Given the description of an element on the screen output the (x, y) to click on. 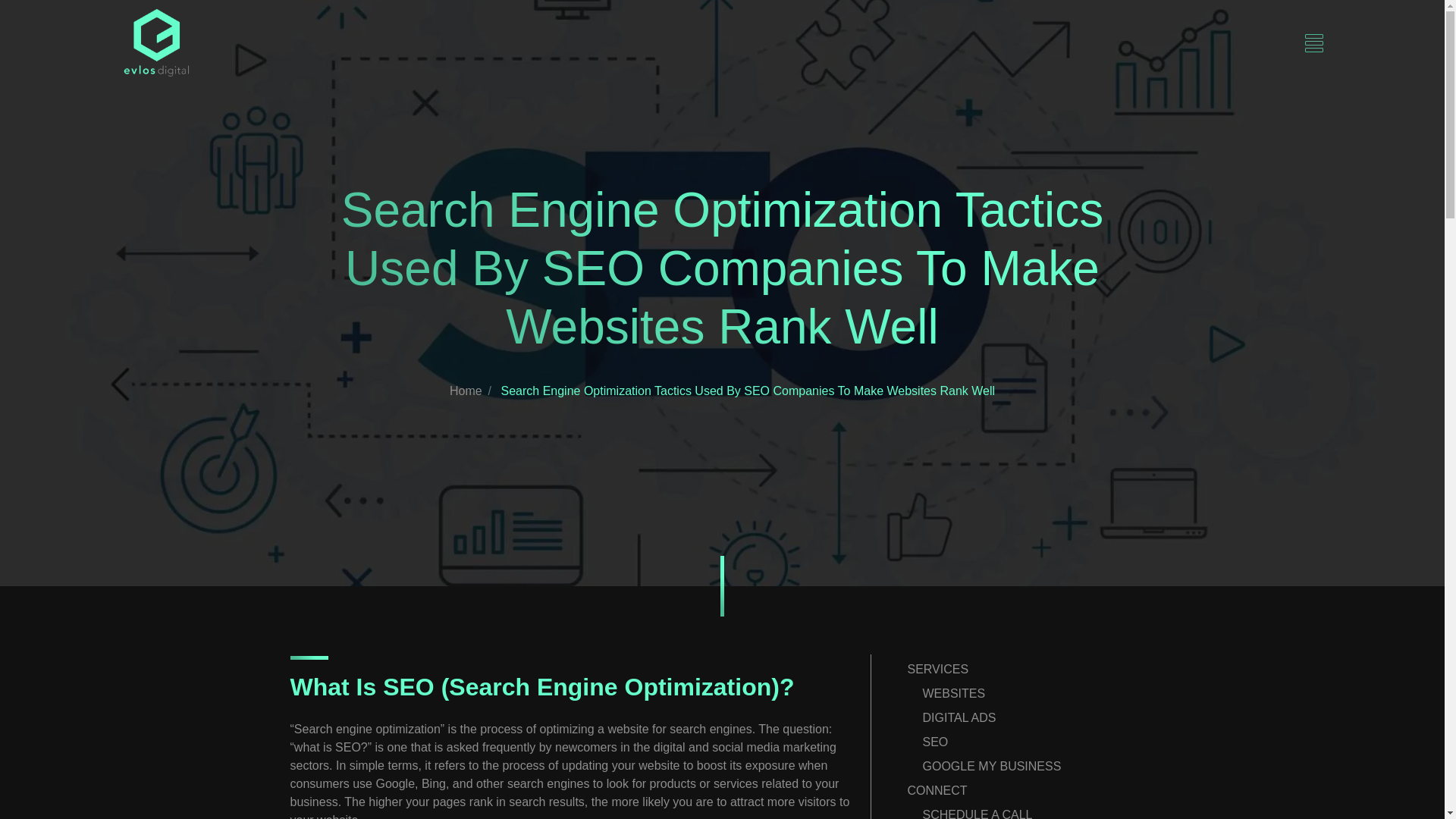
DIGITAL ADS (958, 717)
SCHEDULE A CALL (976, 813)
CONNECT (936, 789)
GOOGLE MY BUSINESS (991, 766)
WEBSITES (953, 693)
Home (465, 390)
SEO (934, 741)
SERVICES (937, 668)
